Given the description of an element on the screen output the (x, y) to click on. 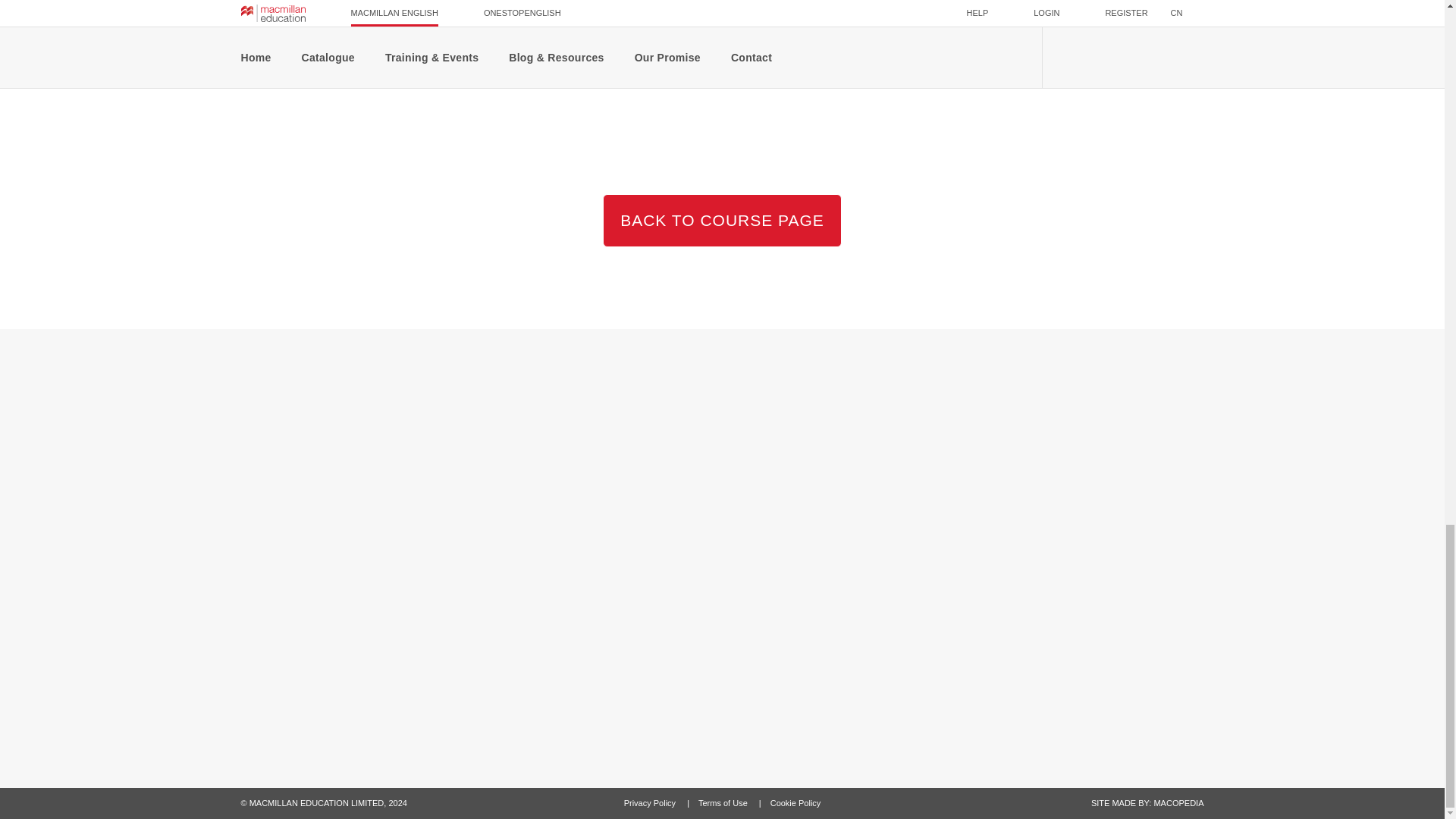
Privacy Policy (651, 802)
BACK TO COURSE PAGE (722, 221)
Terms of Use (723, 802)
DOWNLOAD THE BADGES (346, 61)
